Given the description of an element on the screen output the (x, y) to click on. 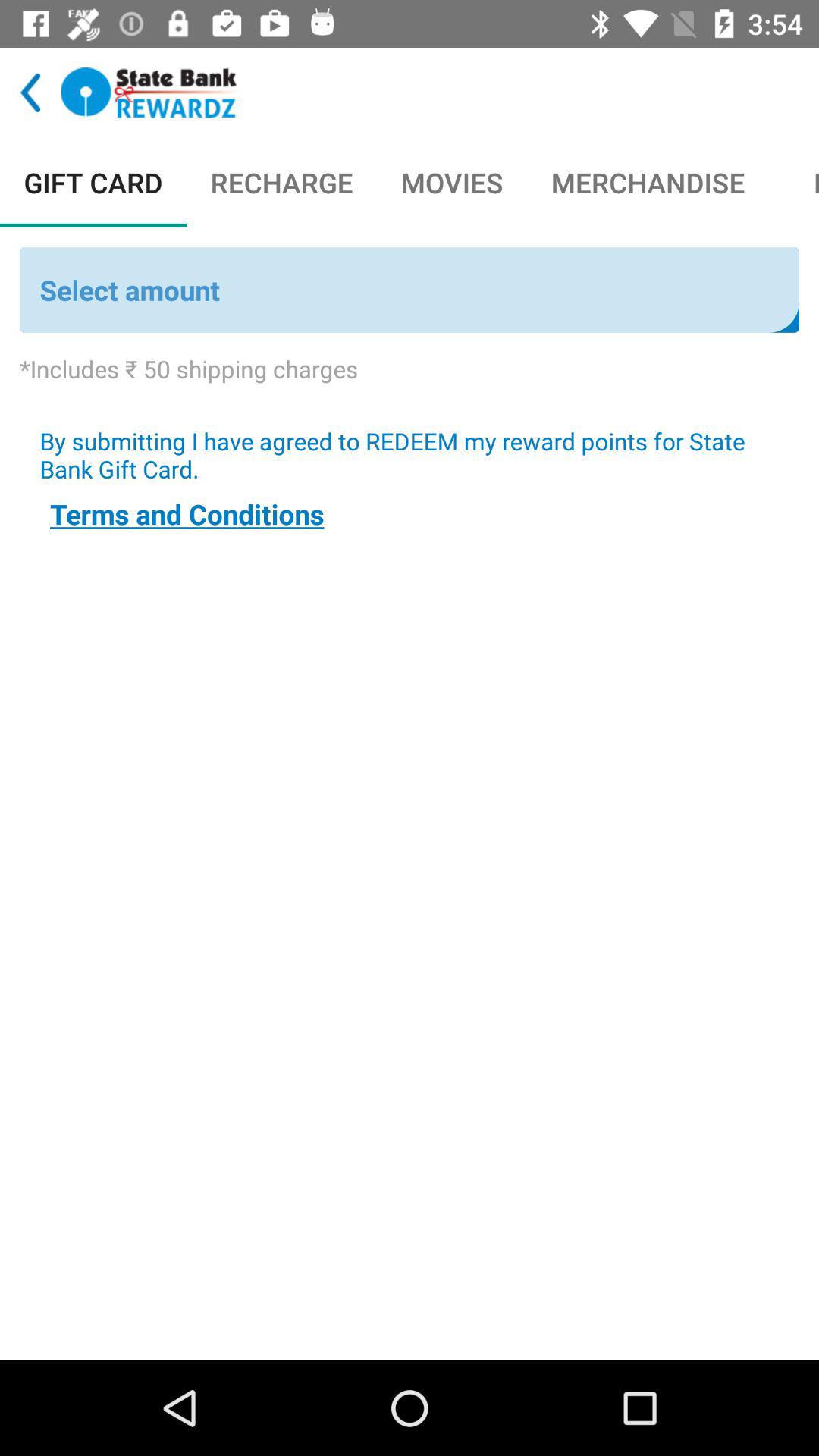
turn off the item on the left (186, 514)
